Given the description of an element on the screen output the (x, y) to click on. 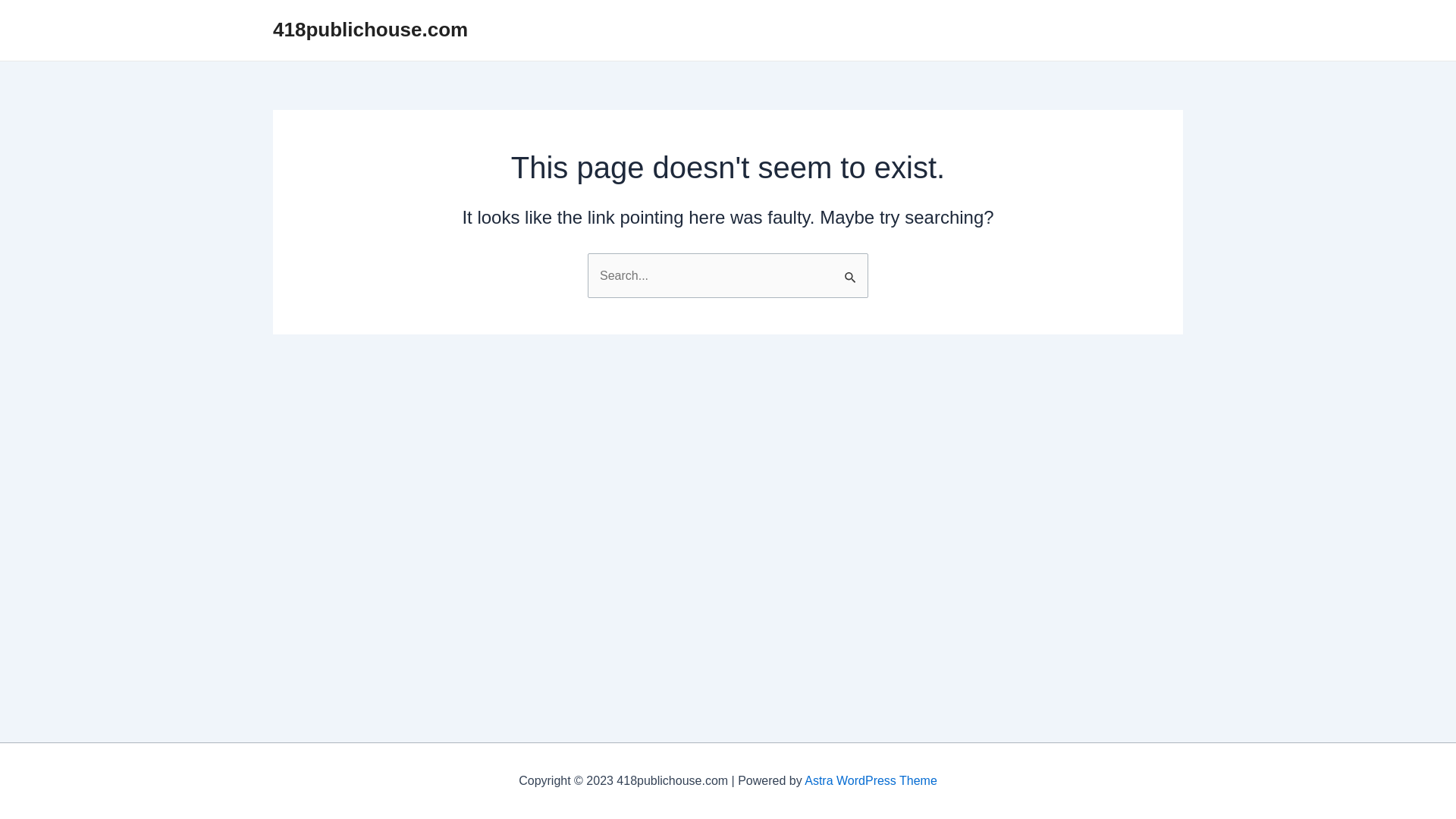
418publichouse.com Element type: text (370, 29)
Search Element type: text (851, 269)
Astra WordPress Theme Element type: text (870, 780)
